Given the description of an element on the screen output the (x, y) to click on. 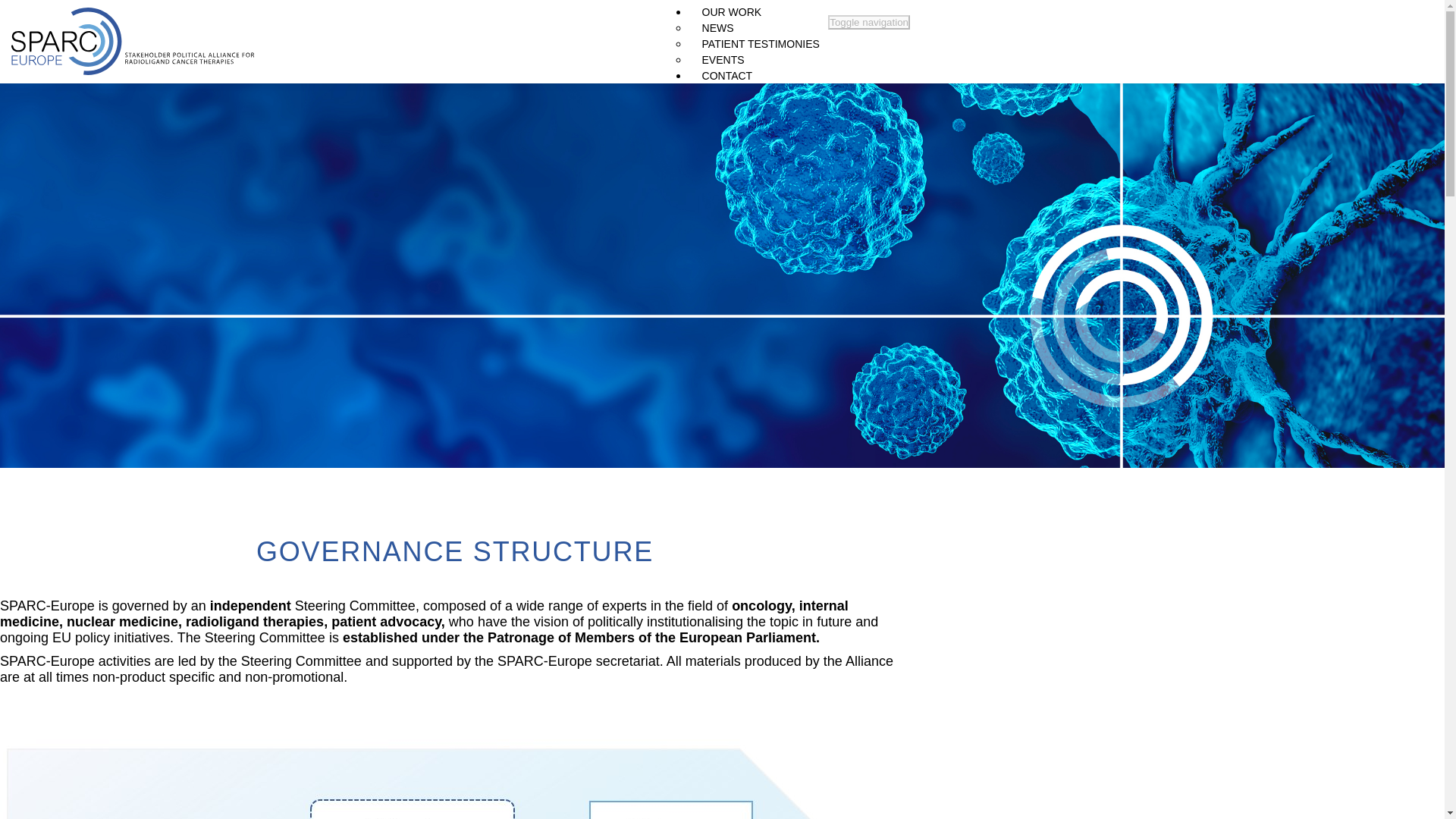
Contact (727, 81)
RADIOLIGAND CANCER THERAPIES (793, 2)
NEWS (717, 33)
News (717, 33)
Toggle navigation (869, 22)
Our work (731, 18)
Events (722, 65)
EVENTS (722, 65)
CONTACT (727, 81)
Patient testimonies (760, 49)
Radioligand Cancer Therapies (793, 2)
OUR WORK (731, 18)
GOVERNANCE (739, 10)
Governance (739, 10)
PATIENT TESTIMONIES (760, 49)
